Given the description of an element on the screen output the (x, y) to click on. 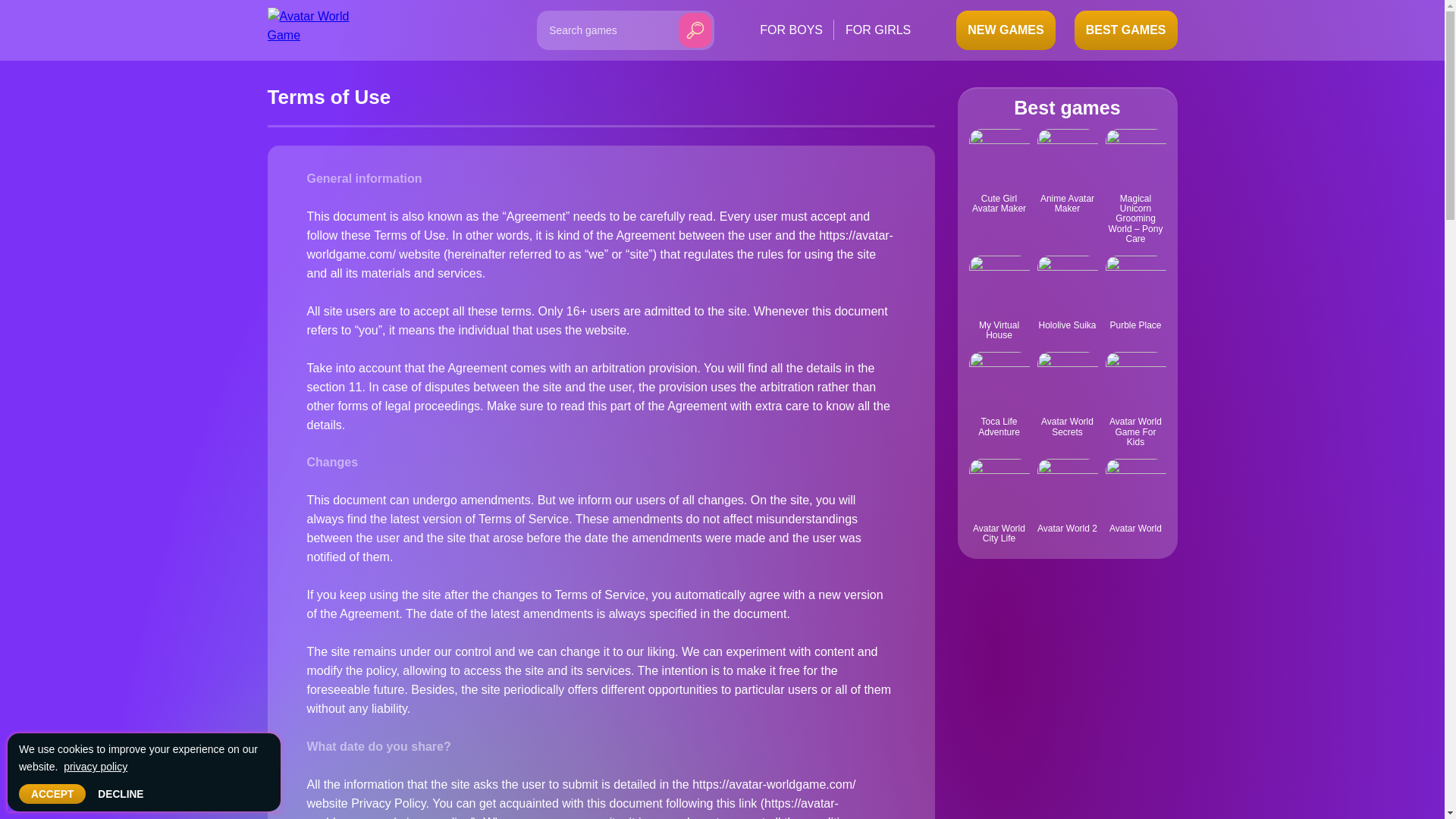
FOR GIRLS (877, 29)
NEW GAMES (1005, 29)
ACCEPT (51, 793)
privacy policy (96, 766)
DECLINE (120, 793)
BEST GAMES (1125, 29)
FOR BOYS (791, 29)
